Given the description of an element on the screen output the (x, y) to click on. 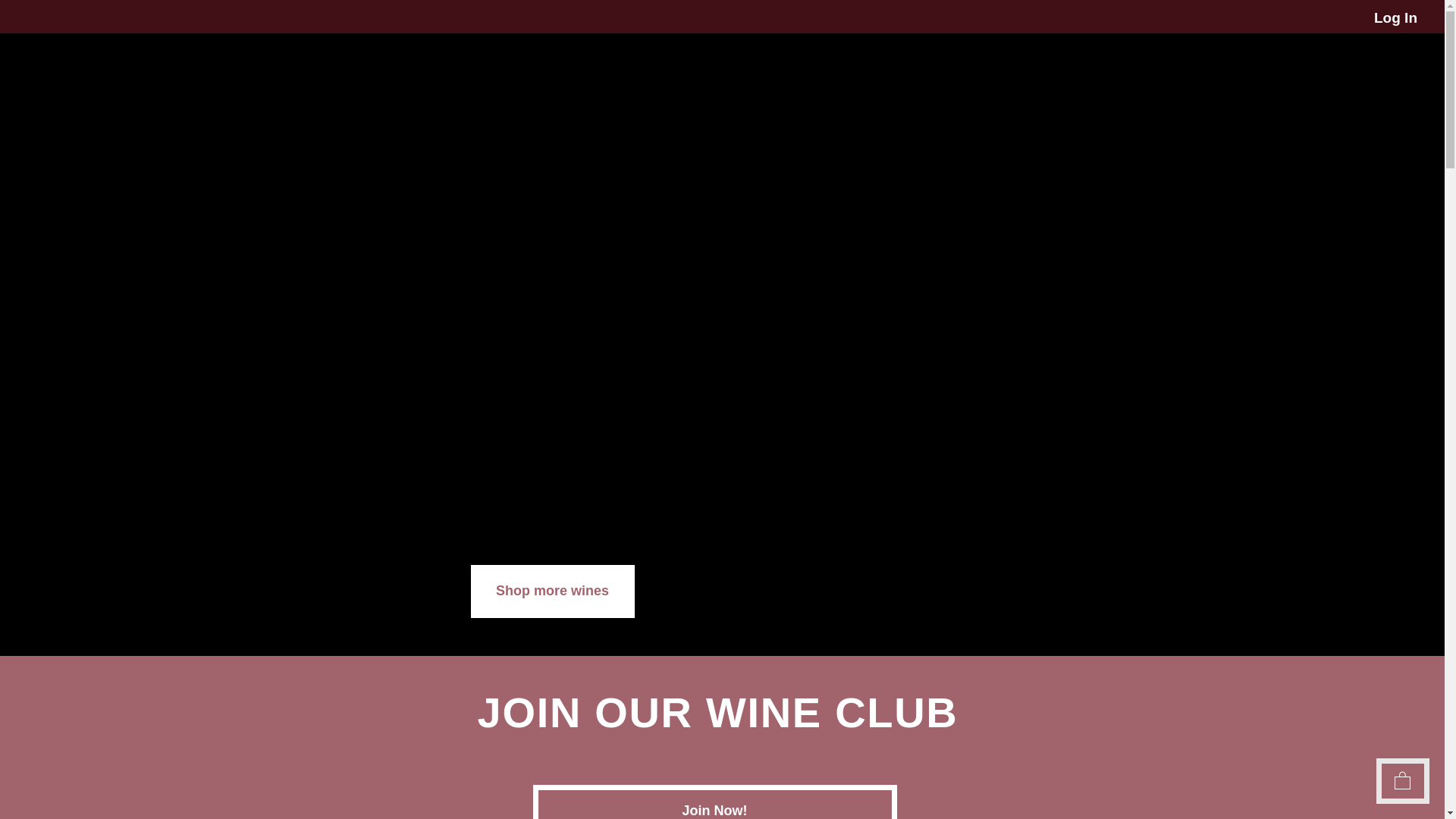
Join Now! (714, 801)
Shop more wines (551, 591)
Log In (1395, 18)
